Given the description of an element on the screen output the (x, y) to click on. 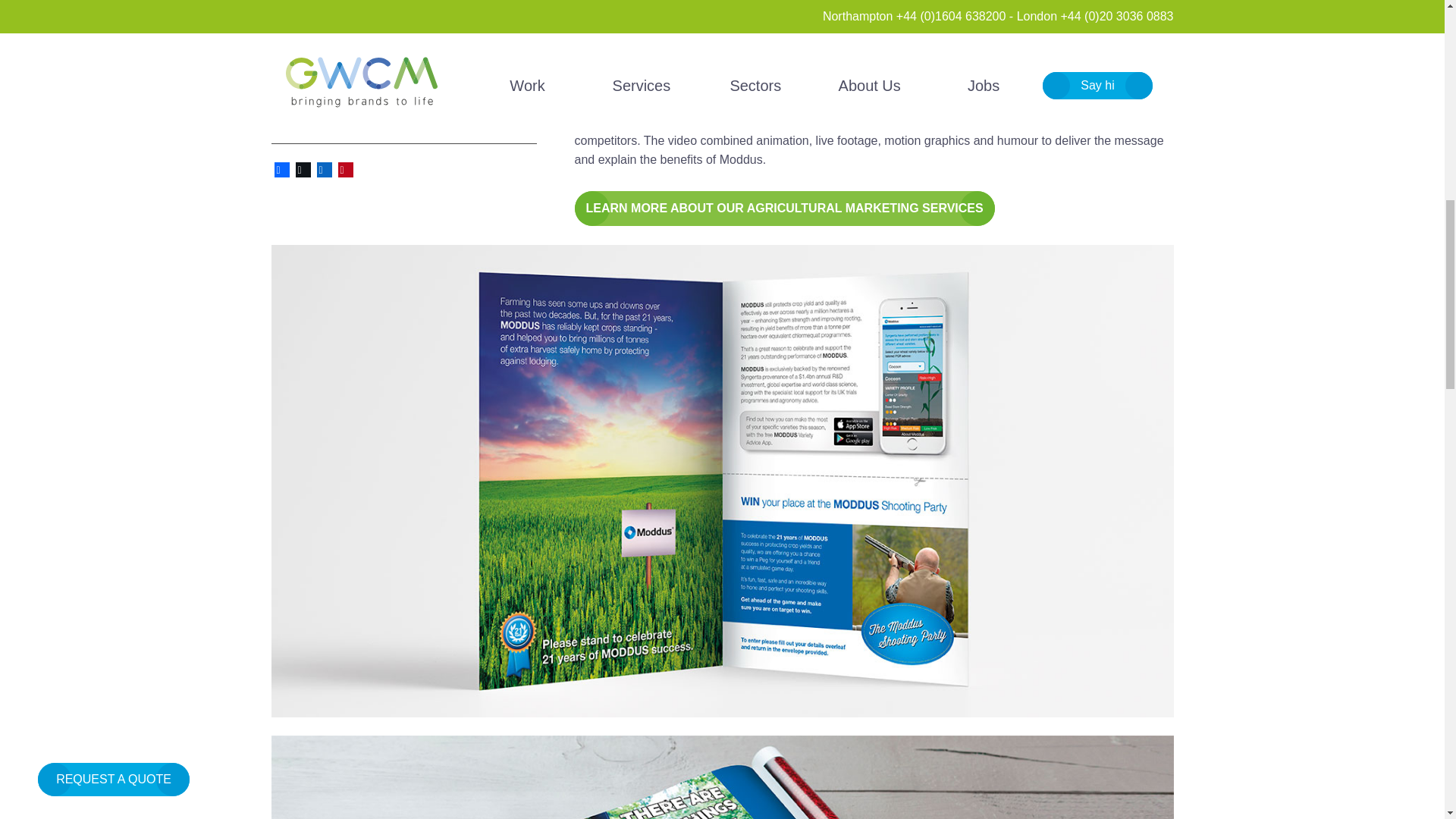
LinkedIn (324, 169)
Facebook (281, 169)
SUBMIT (306, 133)
Pinterest (345, 169)
